Given the description of an element on the screen output the (x, y) to click on. 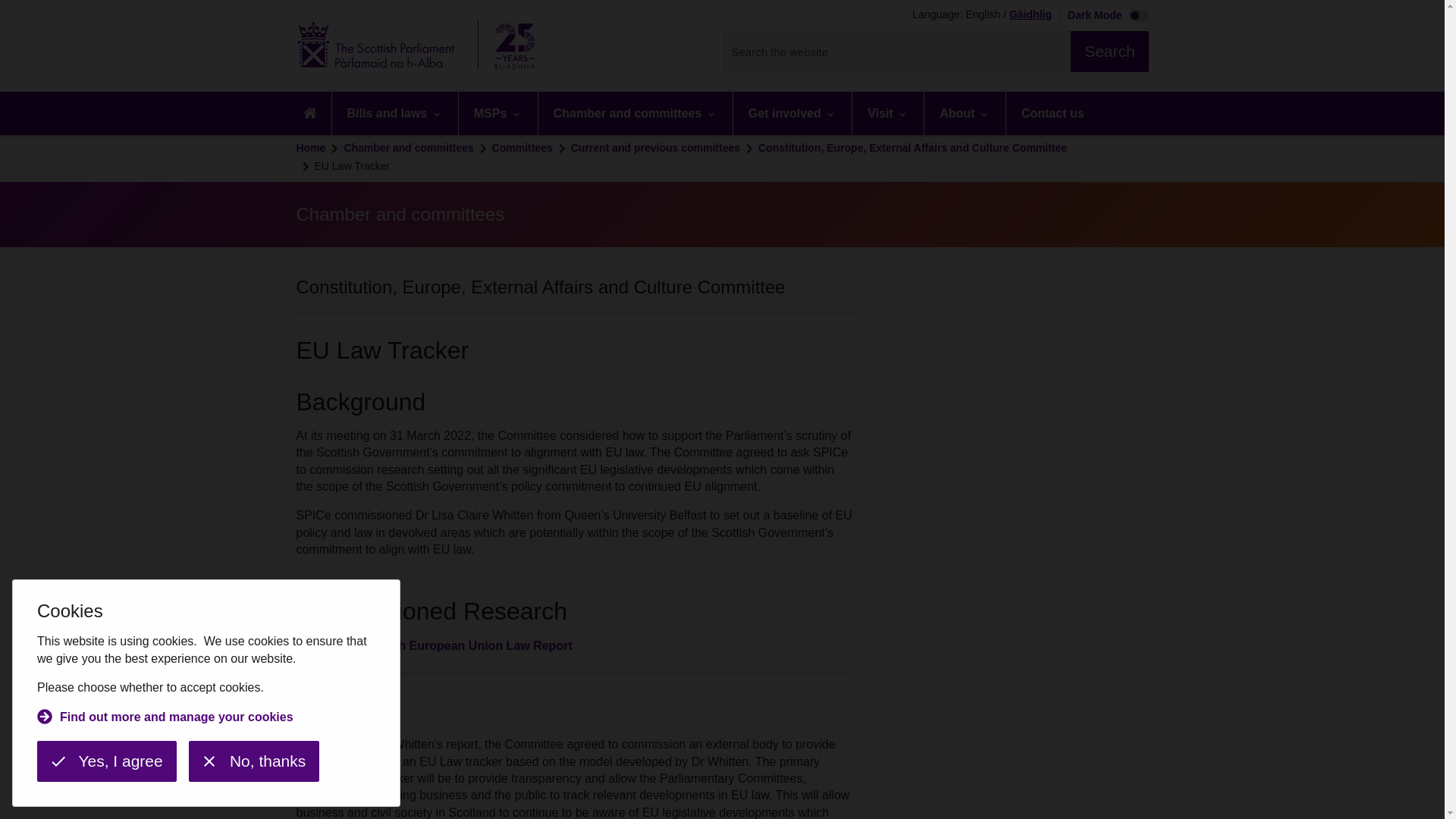
Chamber and committees (635, 113)
Bills and laws (394, 113)
Search (1109, 51)
Dark Mode (1103, 16)
MSPs (497, 113)
Scottish Parliament Website home (419, 45)
No, thanks (252, 761)
Yes, I agree (106, 761)
Find out more and manage your cookies (165, 718)
